Given the description of an element on the screen output the (x, y) to click on. 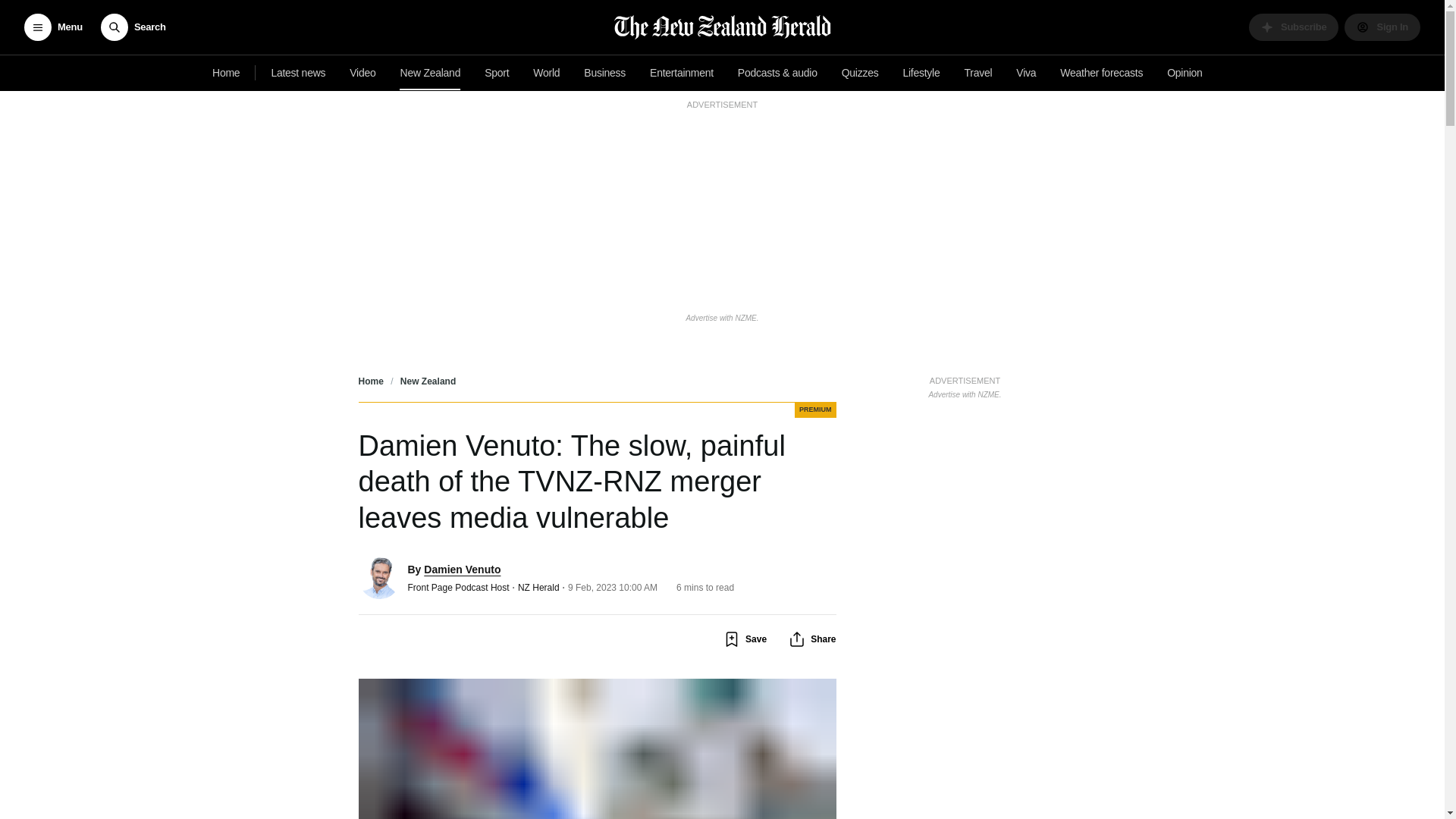
Home (225, 72)
Quizzes (860, 72)
Entertainment (681, 72)
Travel (978, 72)
Weather forecasts (1101, 72)
Manage your account (1382, 26)
Sport (497, 72)
Lifestyle (921, 72)
Viva (1026, 72)
